Given the description of an element on the screen output the (x, y) to click on. 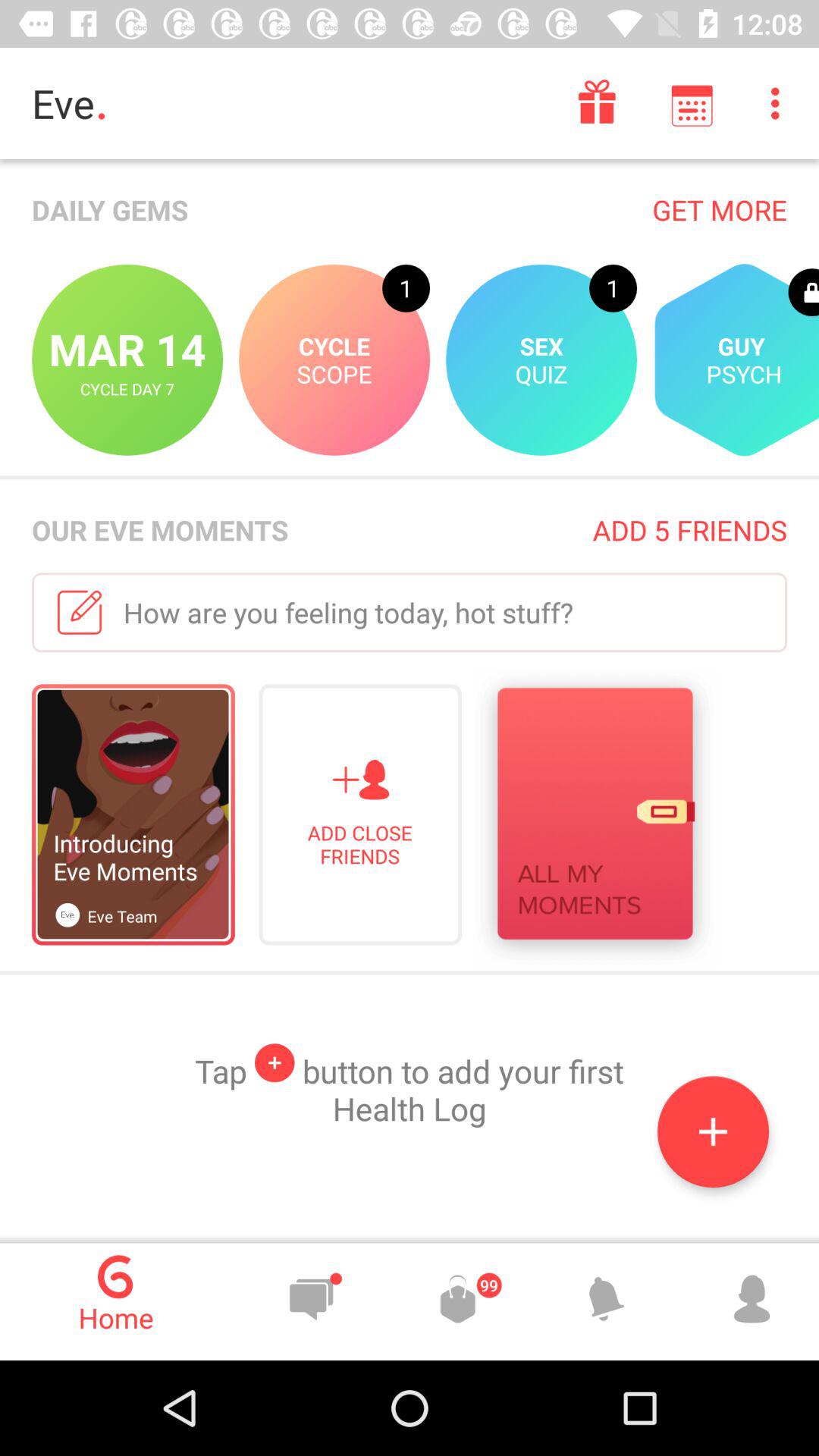
select the get more (719, 209)
